Given the description of an element on the screen output the (x, y) to click on. 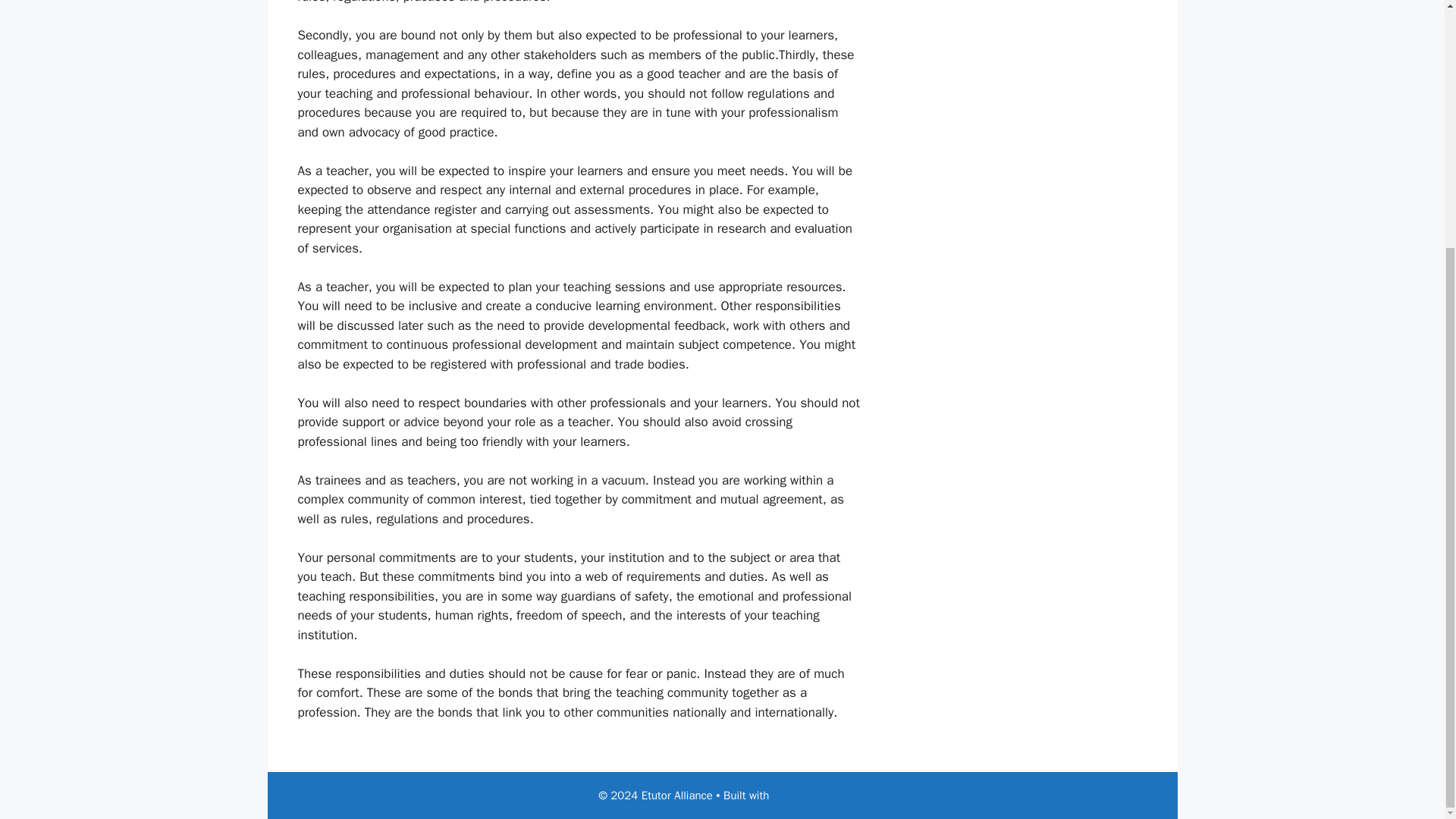
GeneratePress (809, 795)
